Given the description of an element on the screen output the (x, y) to click on. 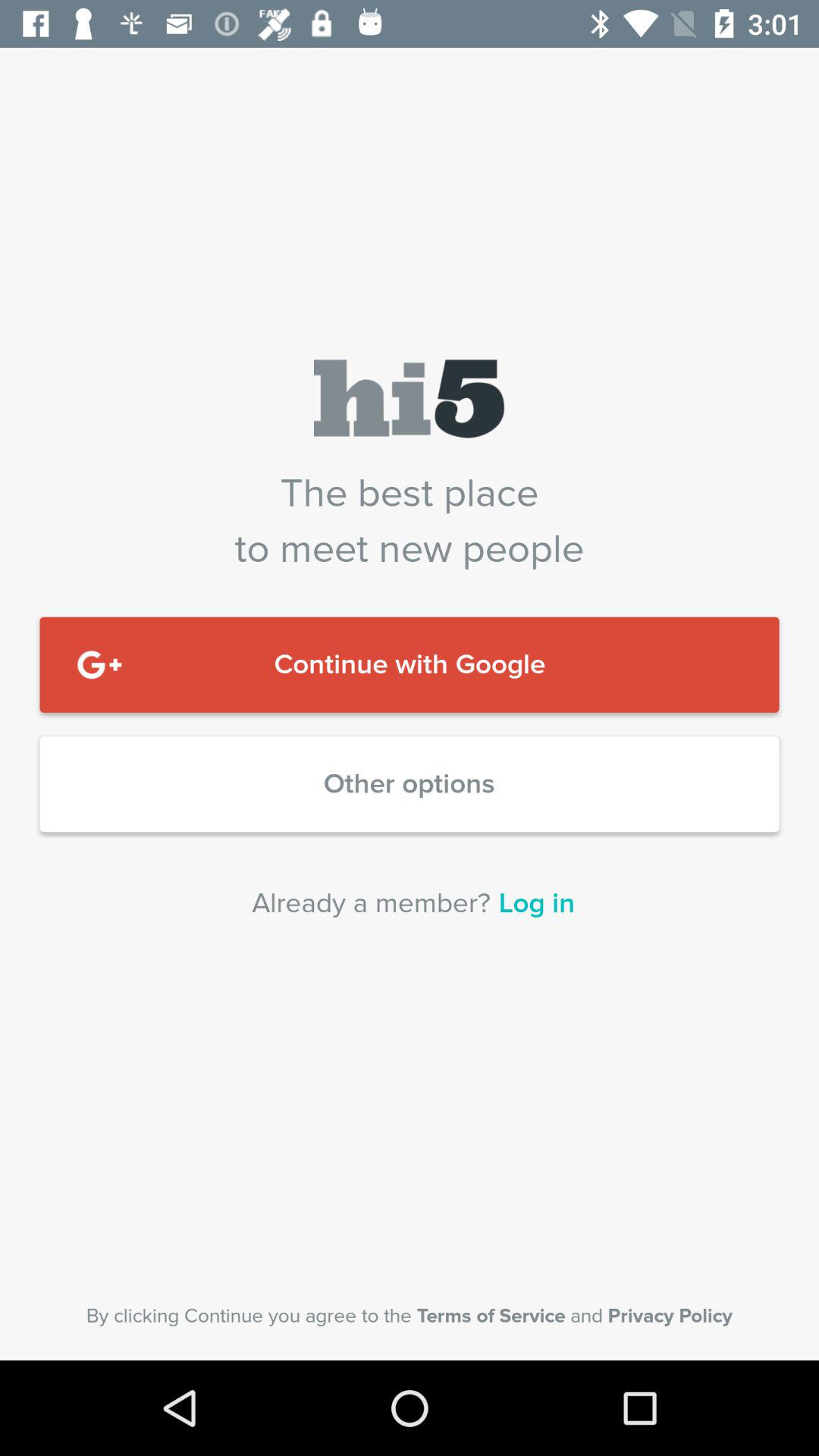
turn off by clicking continue icon (409, 1316)
